Given the description of an element on the screen output the (x, y) to click on. 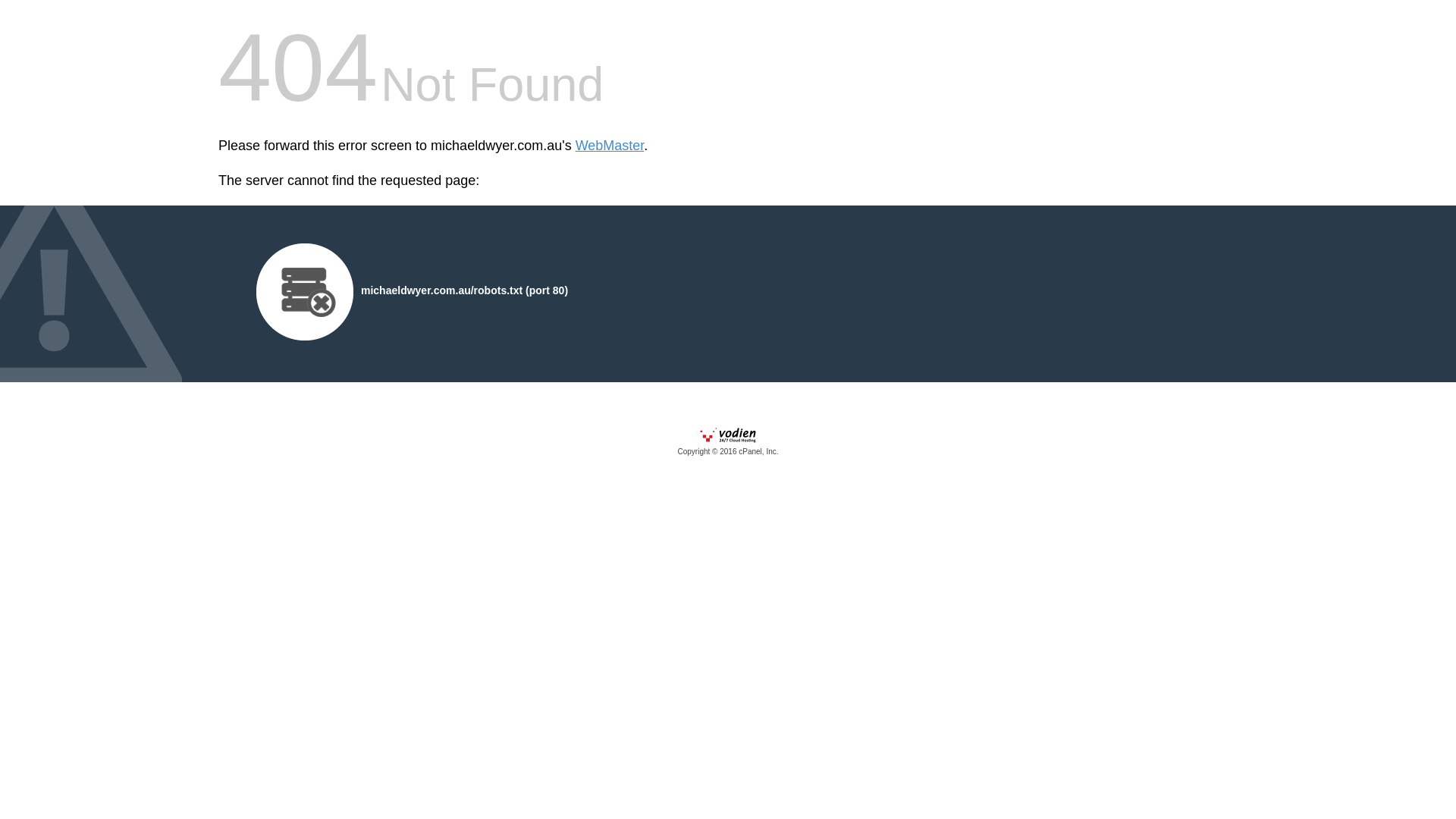
WebMaster Element type: text (609, 145)
